Given the description of an element on the screen output the (x, y) to click on. 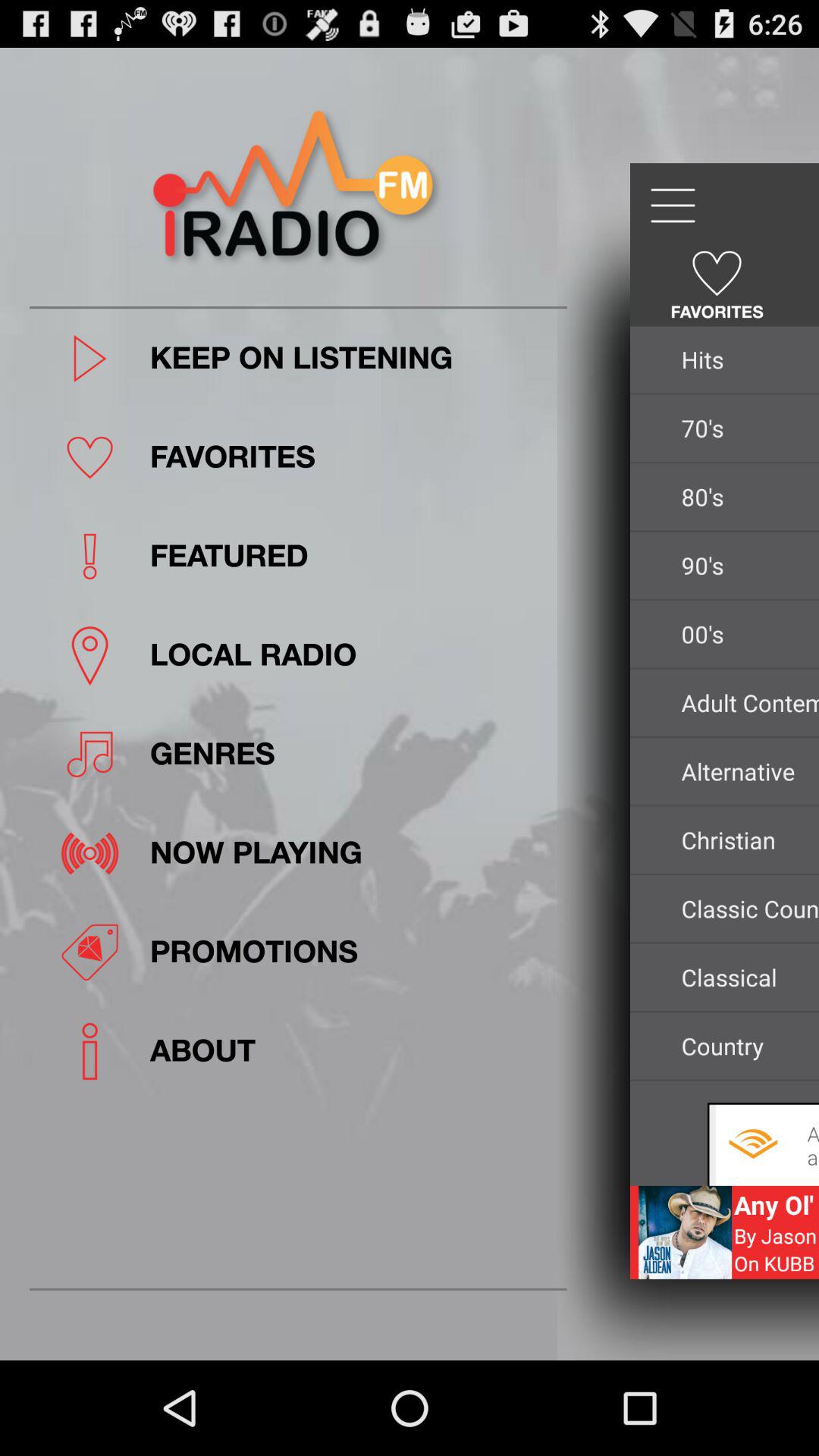
launch app to the right of the promotions app (745, 977)
